Given the description of an element on the screen output the (x, y) to click on. 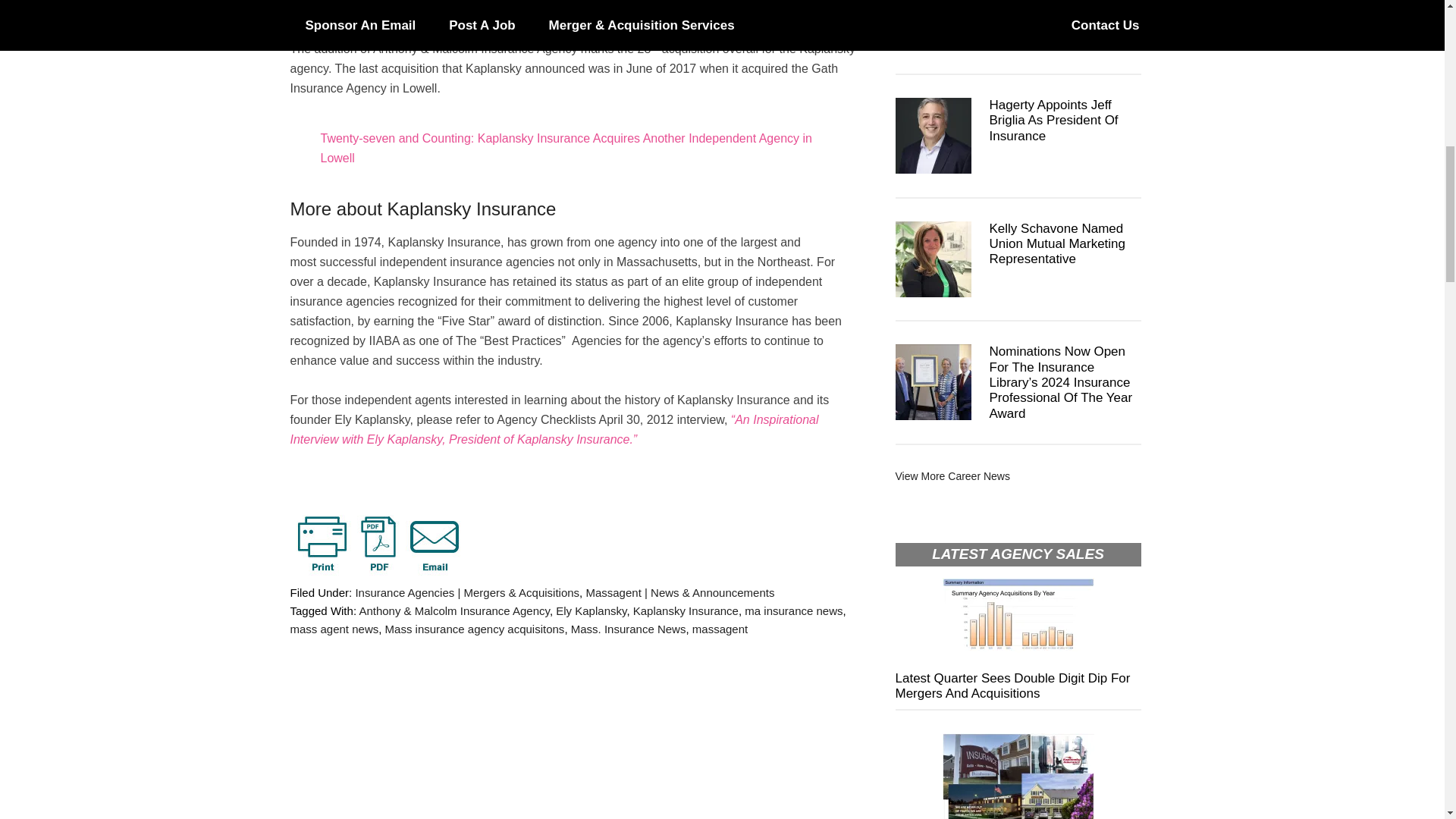
View More Career News (952, 476)
Mass. Insurance News (627, 628)
Kelly Schavone Named Union Mutual Marketing Representative (1056, 243)
Mass insurance agency acquisitons (474, 628)
ma insurance news (793, 610)
Ely Kaplansky (591, 610)
Kaplansky Insurance (685, 610)
mass agent news (333, 628)
massagent (720, 628)
Hagerty Appoints Jeff Briglia As President Of Insurance (1053, 120)
